Given the description of an element on the screen output the (x, y) to click on. 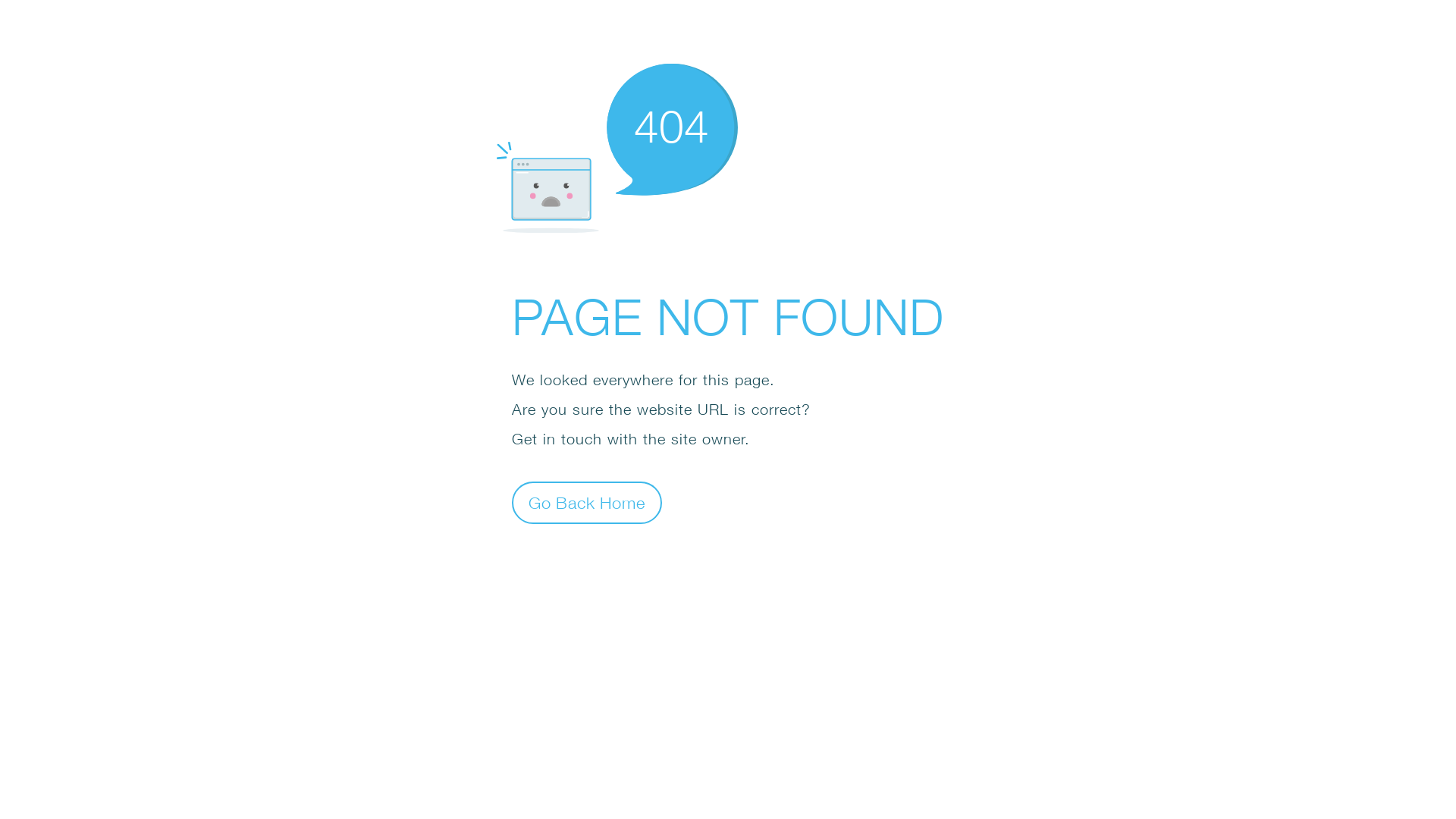
Go Back Home Element type: text (586, 502)
